Given the description of an element on the screen output the (x, y) to click on. 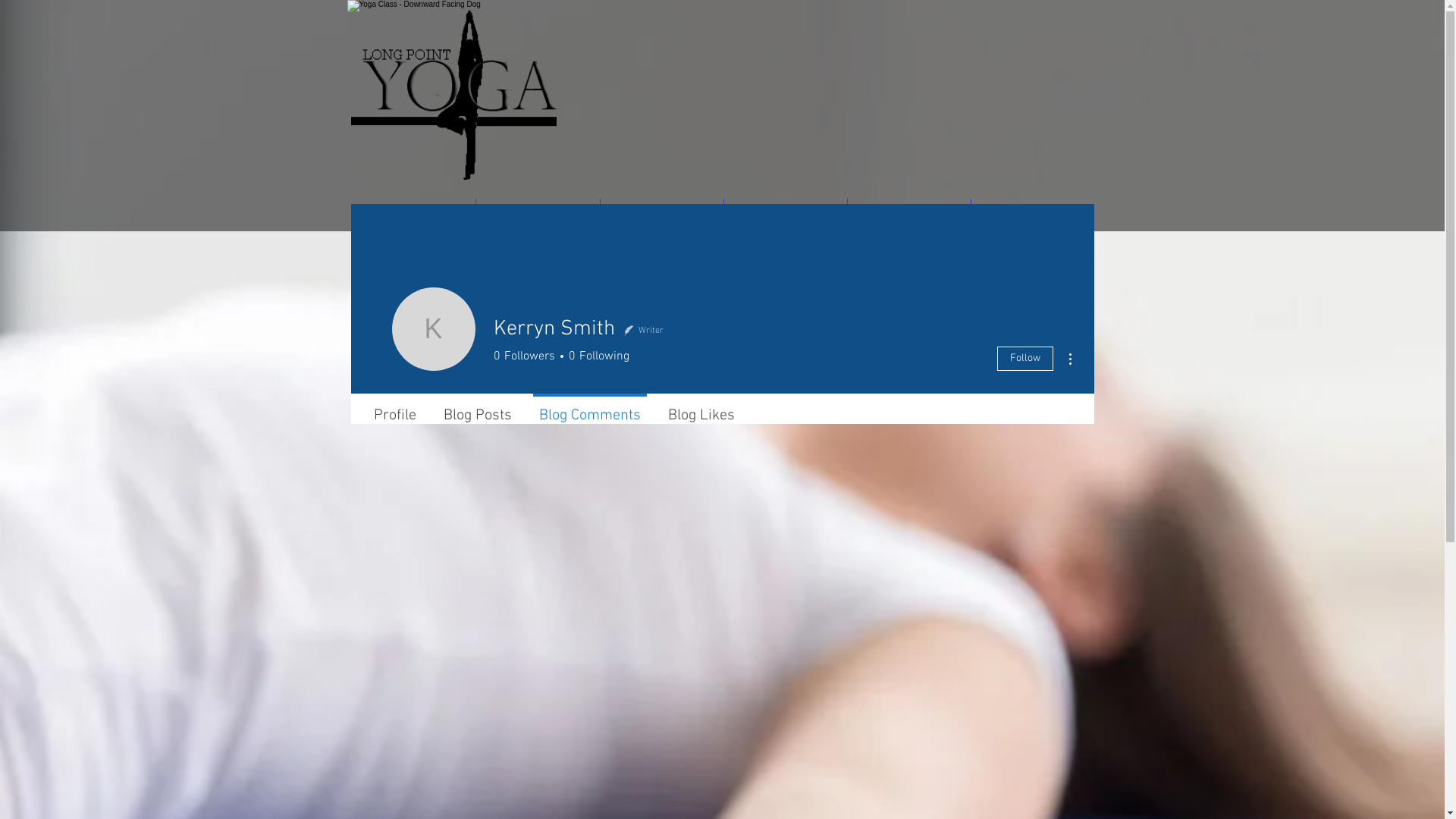
Blog Comments Element type: text (588, 408)
Blog Likes Element type: text (700, 408)
Video Library Element type: text (661, 215)
Blog Element type: text (908, 215)
About Me Element type: text (537, 215)
Contact Element type: text (1031, 215)
Testimonials Element type: text (784, 215)
0
Following Element type: text (595, 356)
Home Element type: text (412, 215)
0
Followers Element type: text (523, 356)
Follow Element type: text (1024, 358)
Blog Posts Element type: text (476, 408)
Profile Element type: text (394, 408)
